Given the description of an element on the screen output the (x, y) to click on. 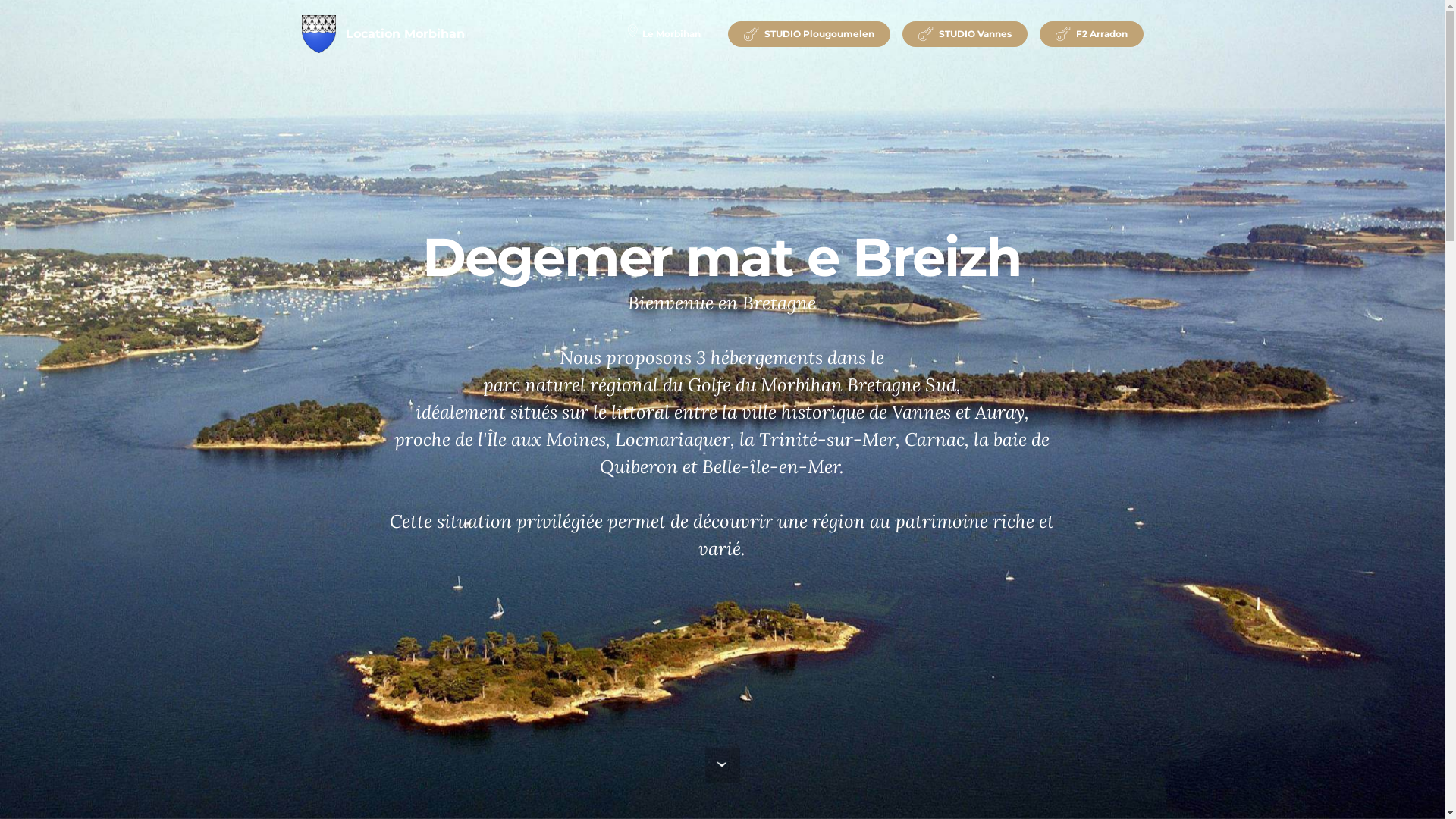
Location Morbihan Element type: text (404, 34)
STUDIO Vannes Element type: text (964, 34)
F2 Arradon Element type: text (1091, 34)
Le Morbihan Element type: text (664, 33)
STUDIO Plougoumelen Element type: text (809, 34)
Location Morbihan Element type: hover (318, 34)
